Given the description of an element on the screen output the (x, y) to click on. 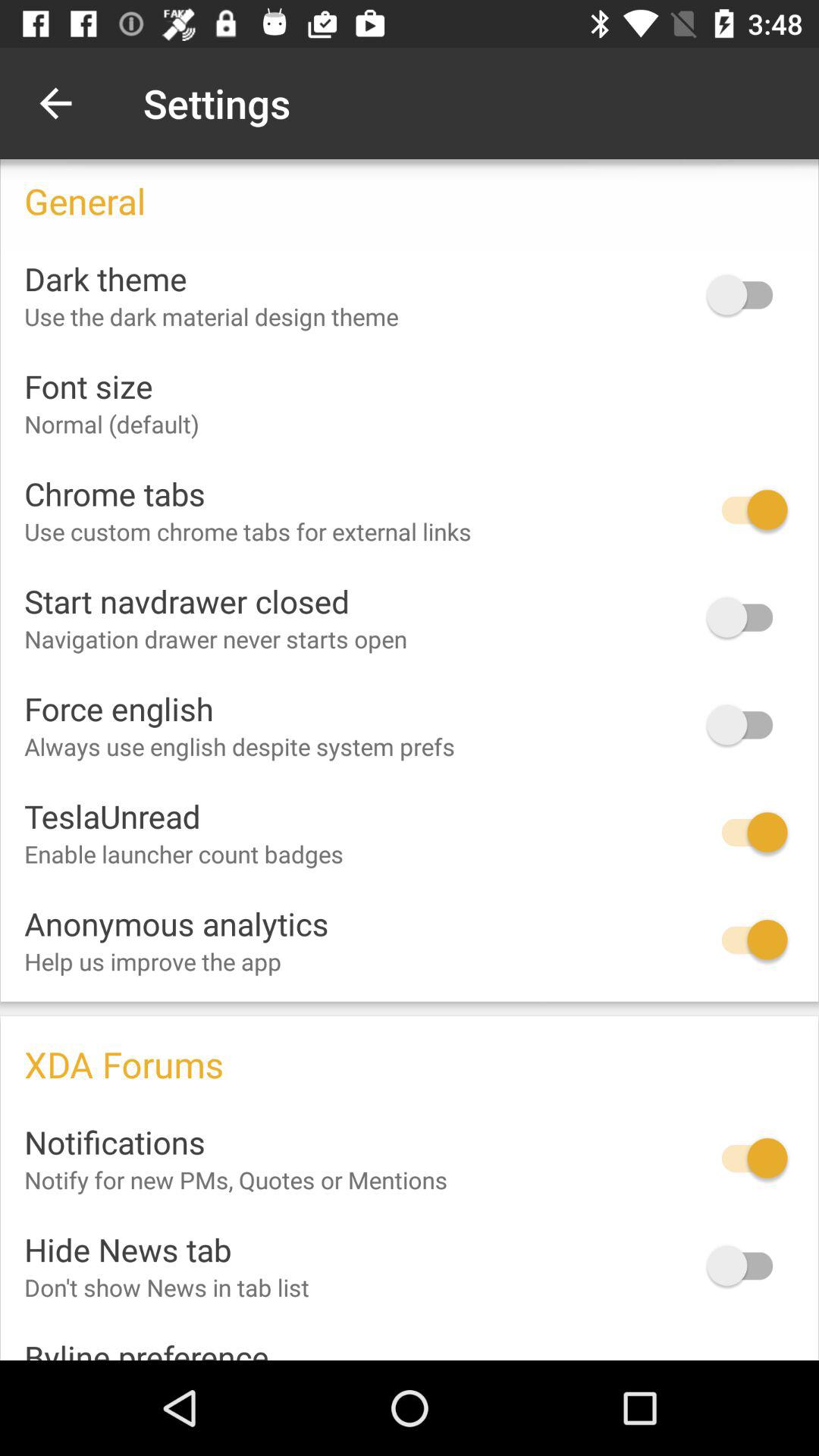
toggle launcher count badges option (747, 832)
